Given the description of an element on the screen output the (x, y) to click on. 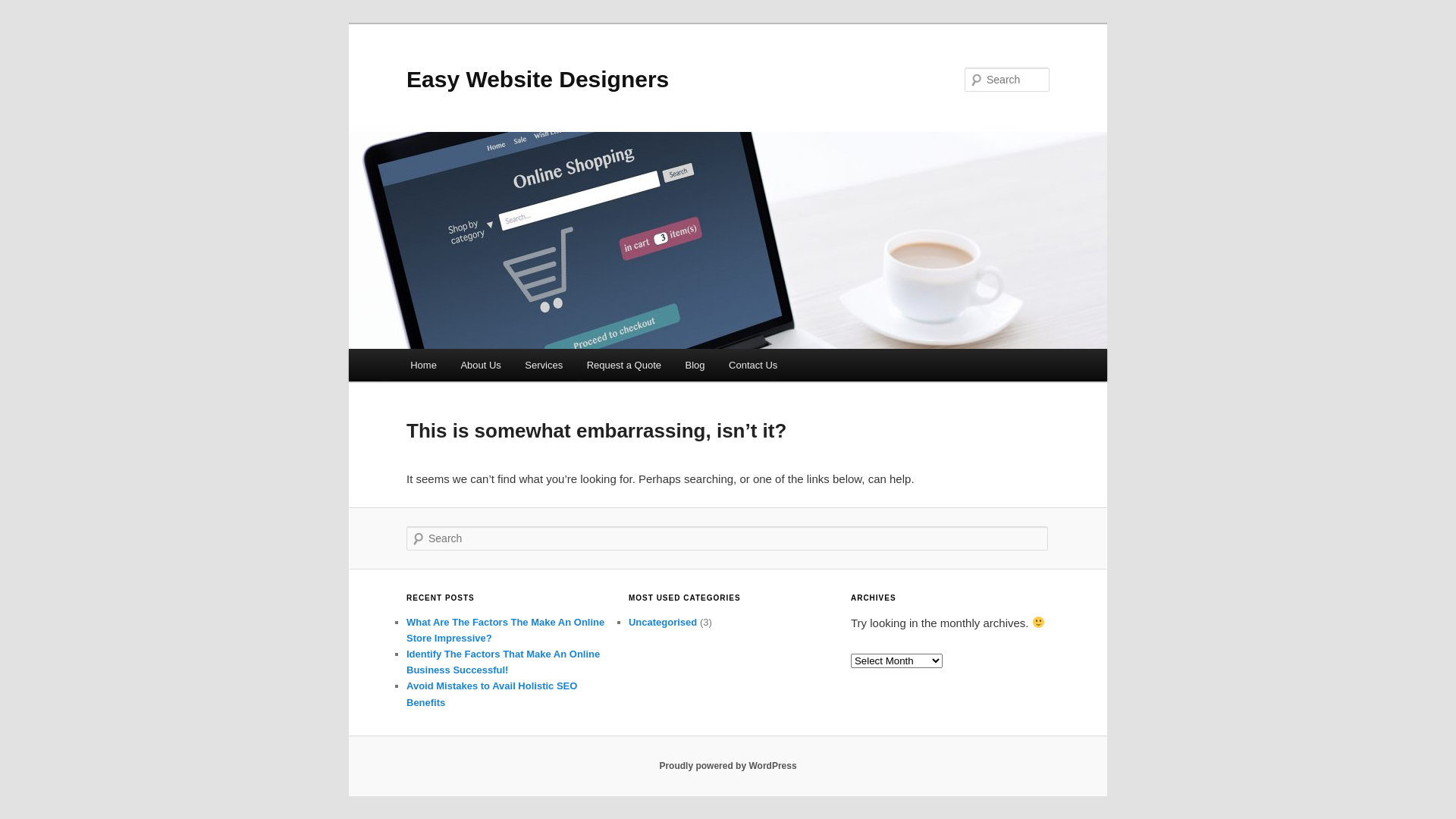
Blog Element type: text (695, 364)
Skip to primary content Element type: text (420, 348)
Request a Quote Element type: text (623, 364)
Contact Us Element type: text (752, 364)
What Are The Factors The Make An Online Store Impressive? Element type: text (505, 629)
Search Element type: text (24, 8)
Home Element type: text (423, 364)
Services Element type: text (543, 364)
Uncategorised Element type: text (662, 621)
Proudly powered by WordPress Element type: text (727, 765)
Easy Website Designers Element type: text (537, 78)
About Us Element type: text (480, 364)
Avoid Mistakes to Avail Holistic SEO Benefits Element type: text (491, 693)
